Given the description of an element on the screen output the (x, y) to click on. 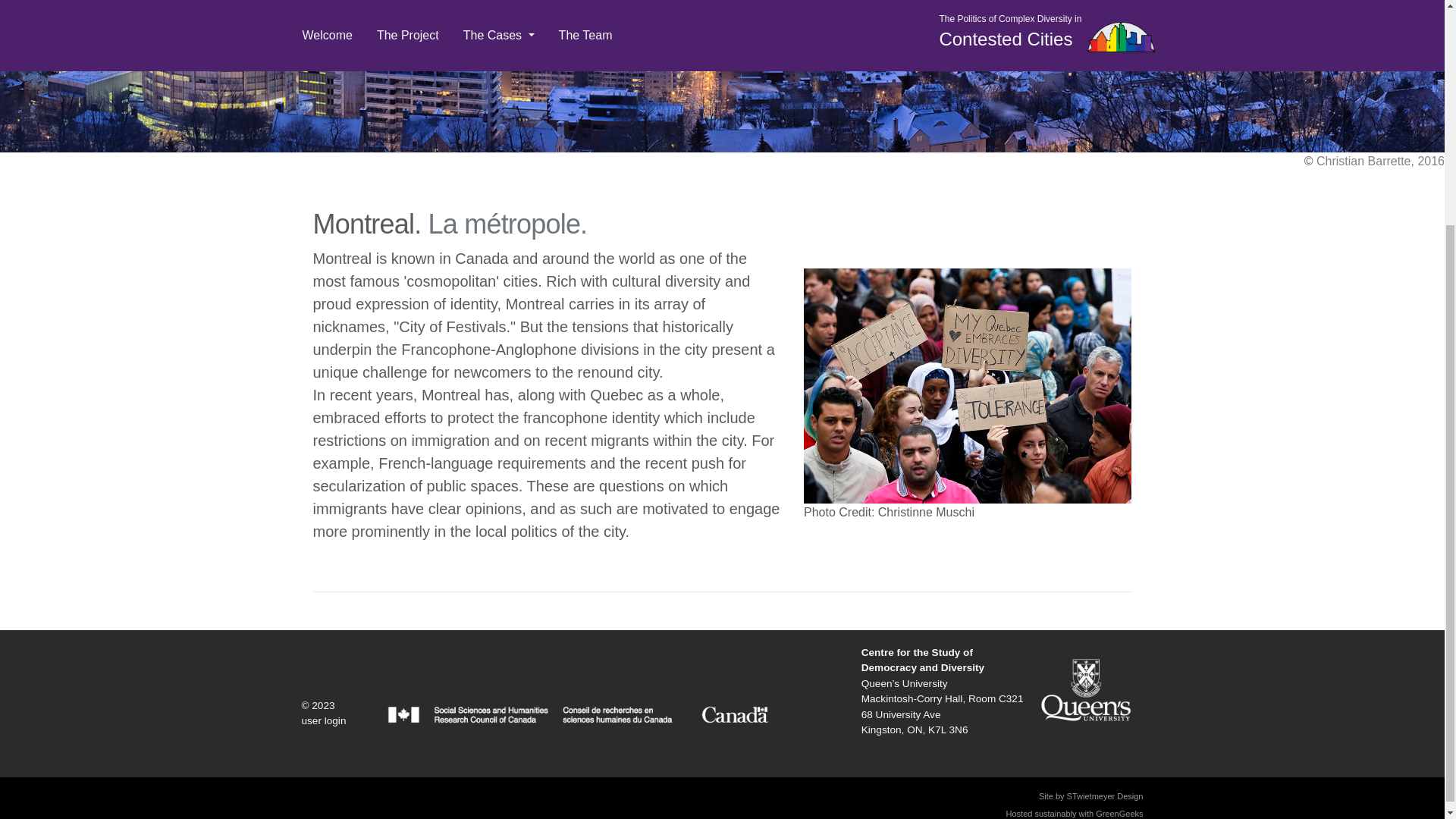
Site by STwietmeyer Design (922, 660)
Hosted sustainably with GreenGeeks (1090, 795)
user login (1074, 813)
